Given the description of an element on the screen output the (x, y) to click on. 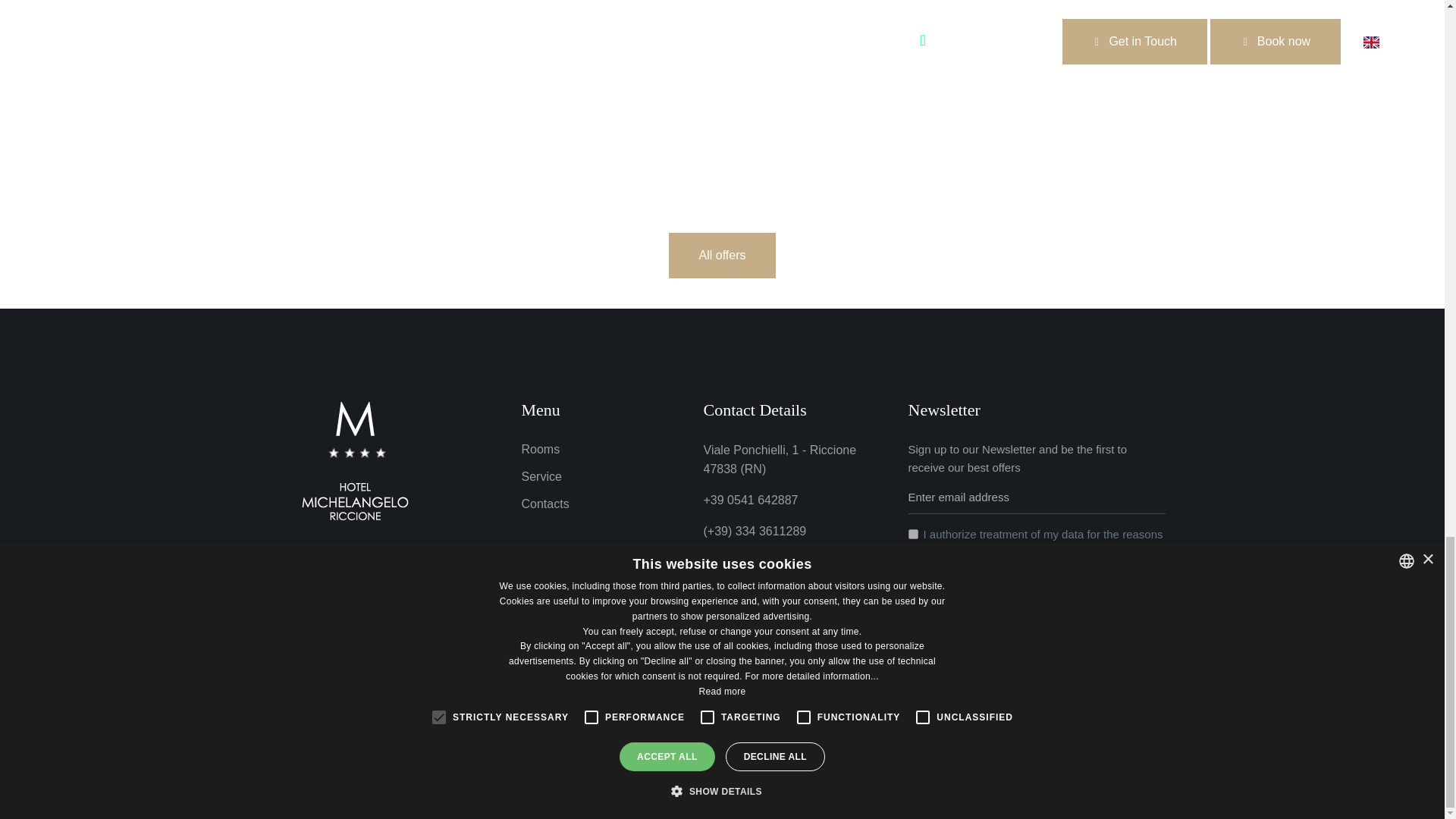
acconsento (913, 533)
See all (722, 255)
English (339, 548)
Buonsito.it - Web Marketing, Web Site (977, 769)
Italiano (295, 548)
Deutsch (389, 548)
